Given the description of an element on the screen output the (x, y) to click on. 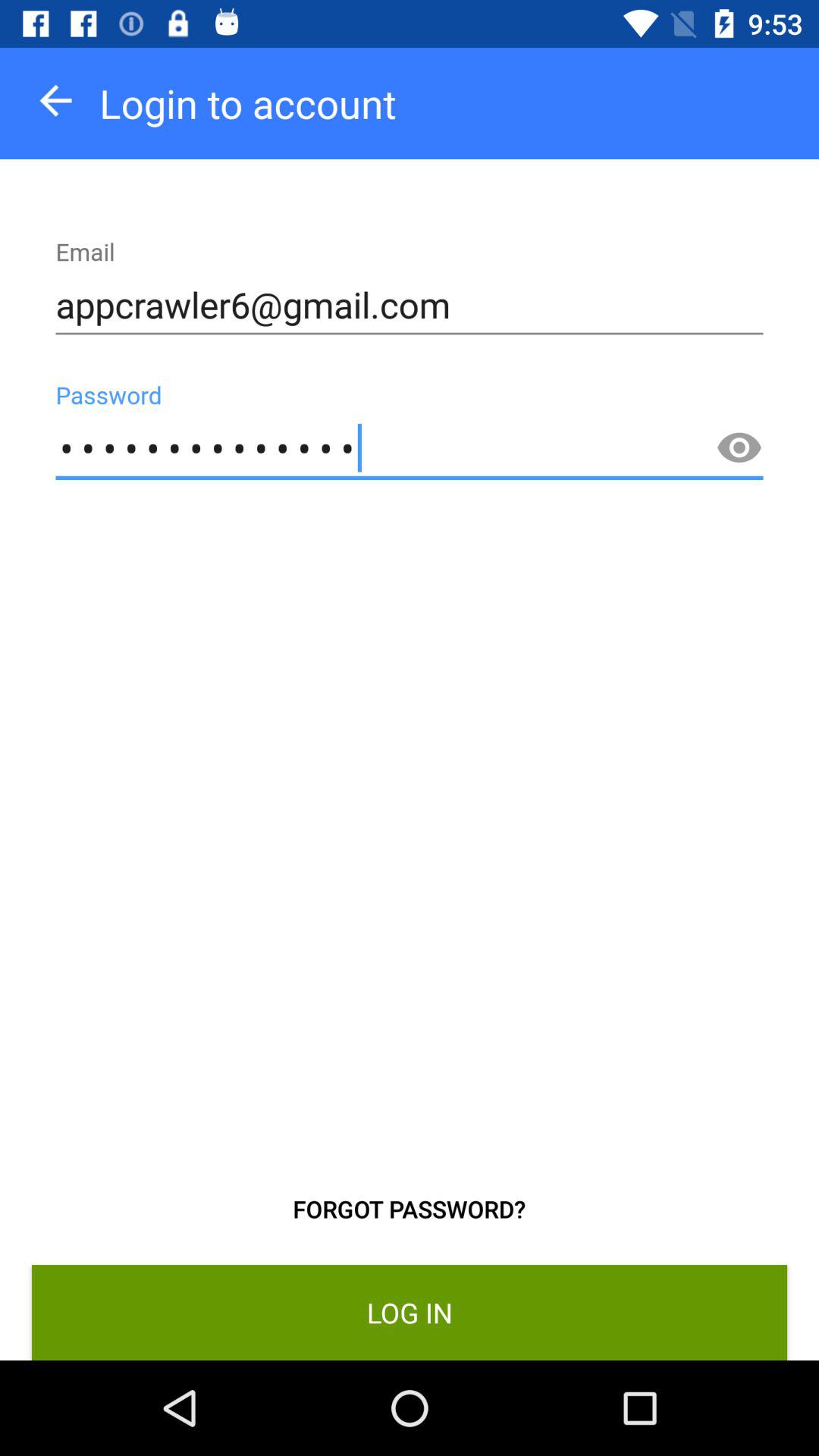
flip until forgot password? icon (409, 1208)
